Given the description of an element on the screen output the (x, y) to click on. 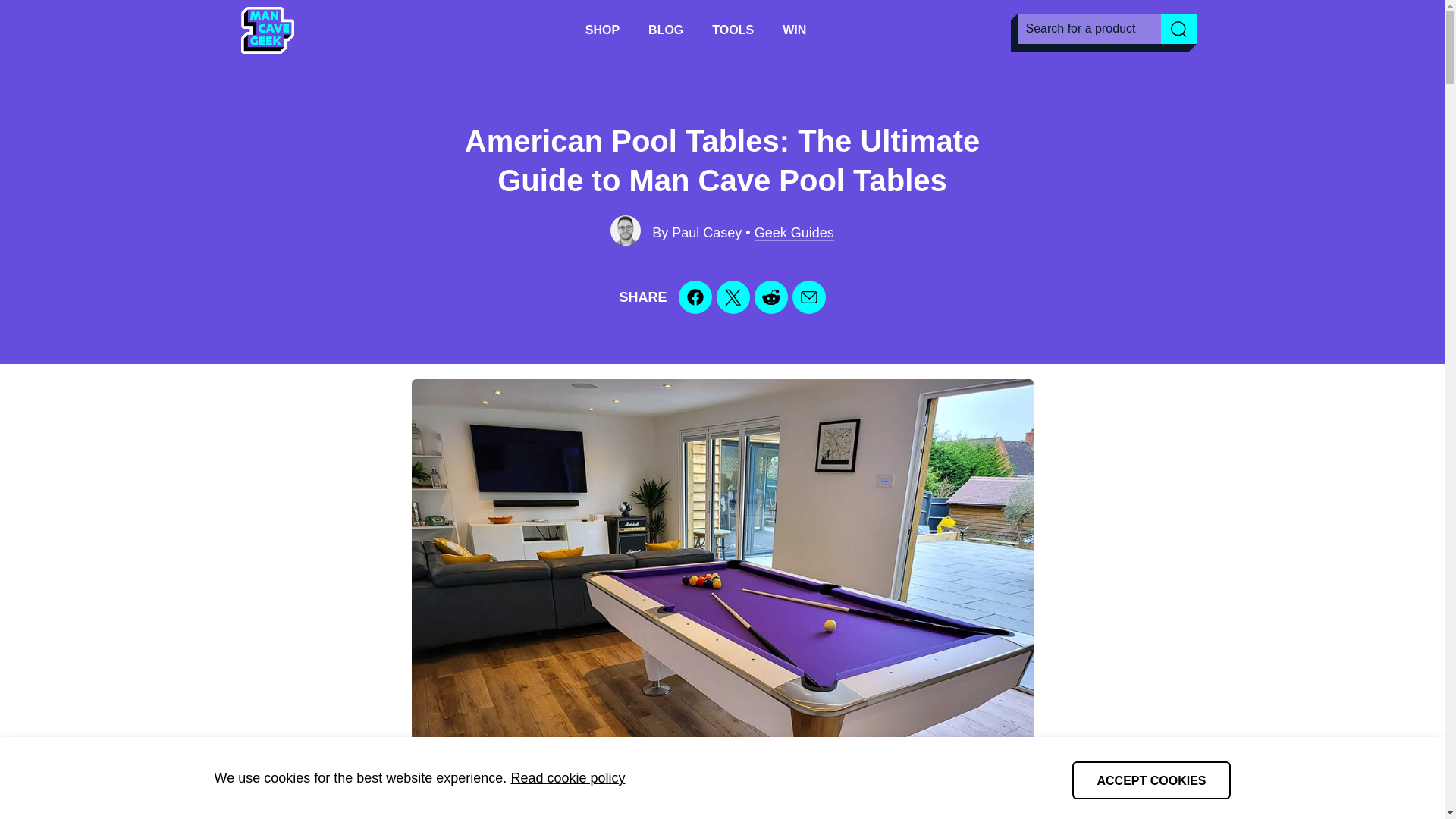
TOOLS (732, 29)
Search (1177, 28)
BLOG (665, 29)
WIN (793, 29)
Share to Facebook (694, 296)
Search (1177, 28)
Share to X (732, 296)
Man Cave Geek (266, 30)
Man Cave Geek (266, 30)
Geek Guides (794, 232)
Share via Email (808, 296)
Share to Reddit (770, 296)
SHOP (602, 29)
